Given the description of an element on the screen output the (x, y) to click on. 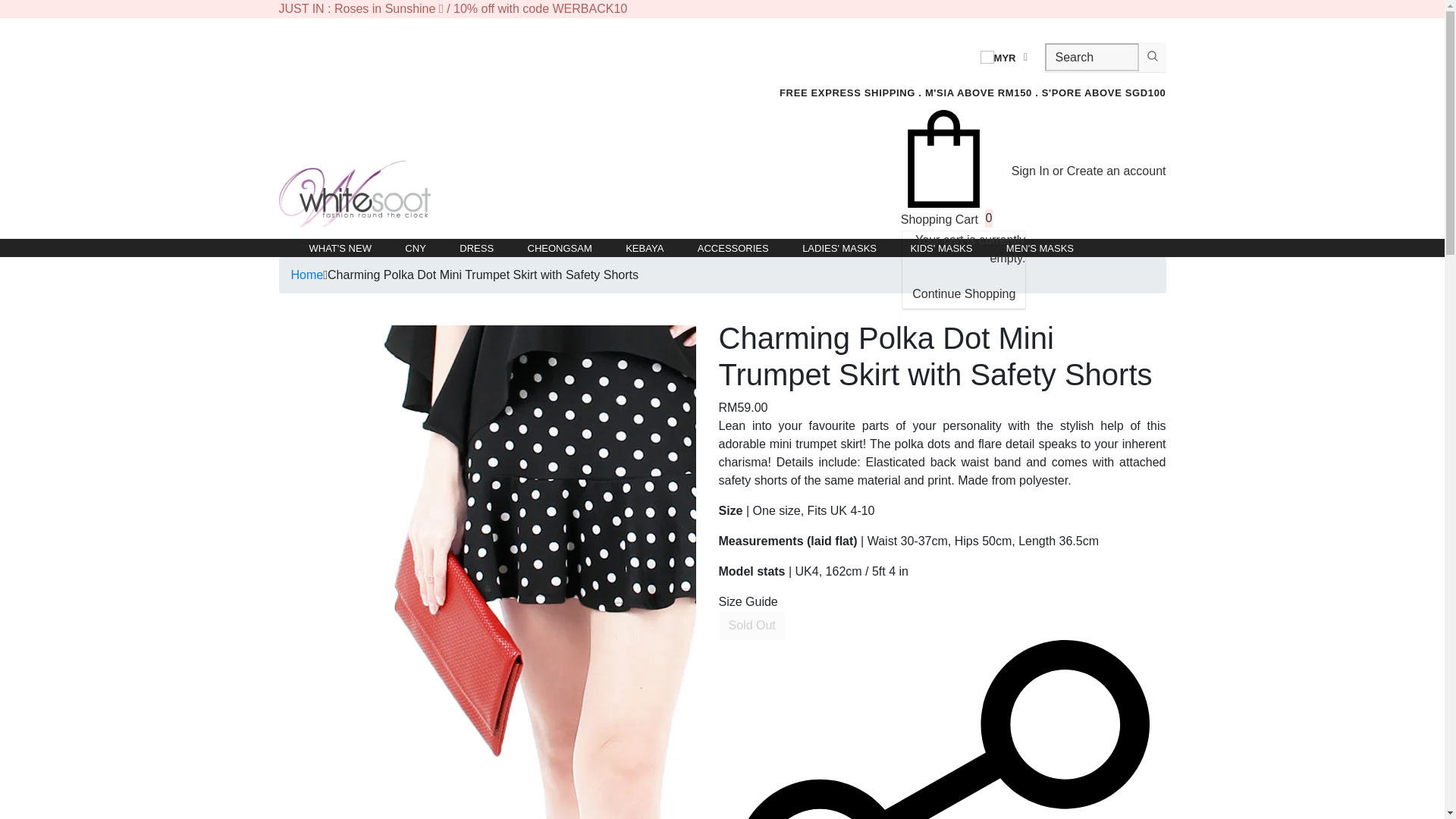
KEBAYA (644, 247)
Create an account (1116, 170)
Logo (354, 194)
KIDS' MASKS (941, 247)
Sign In (1031, 170)
CHEONGSAM (559, 247)
Home (307, 275)
DRESS (476, 247)
Continue Shopping (963, 294)
ACCESSORIES (732, 247)
CNY (414, 247)
MEN'S MASKS (1040, 247)
WHAT'S NEW (339, 247)
Sold Out (752, 624)
LADIES' MASKS (839, 247)
